Given the description of an element on the screen output the (x, y) to click on. 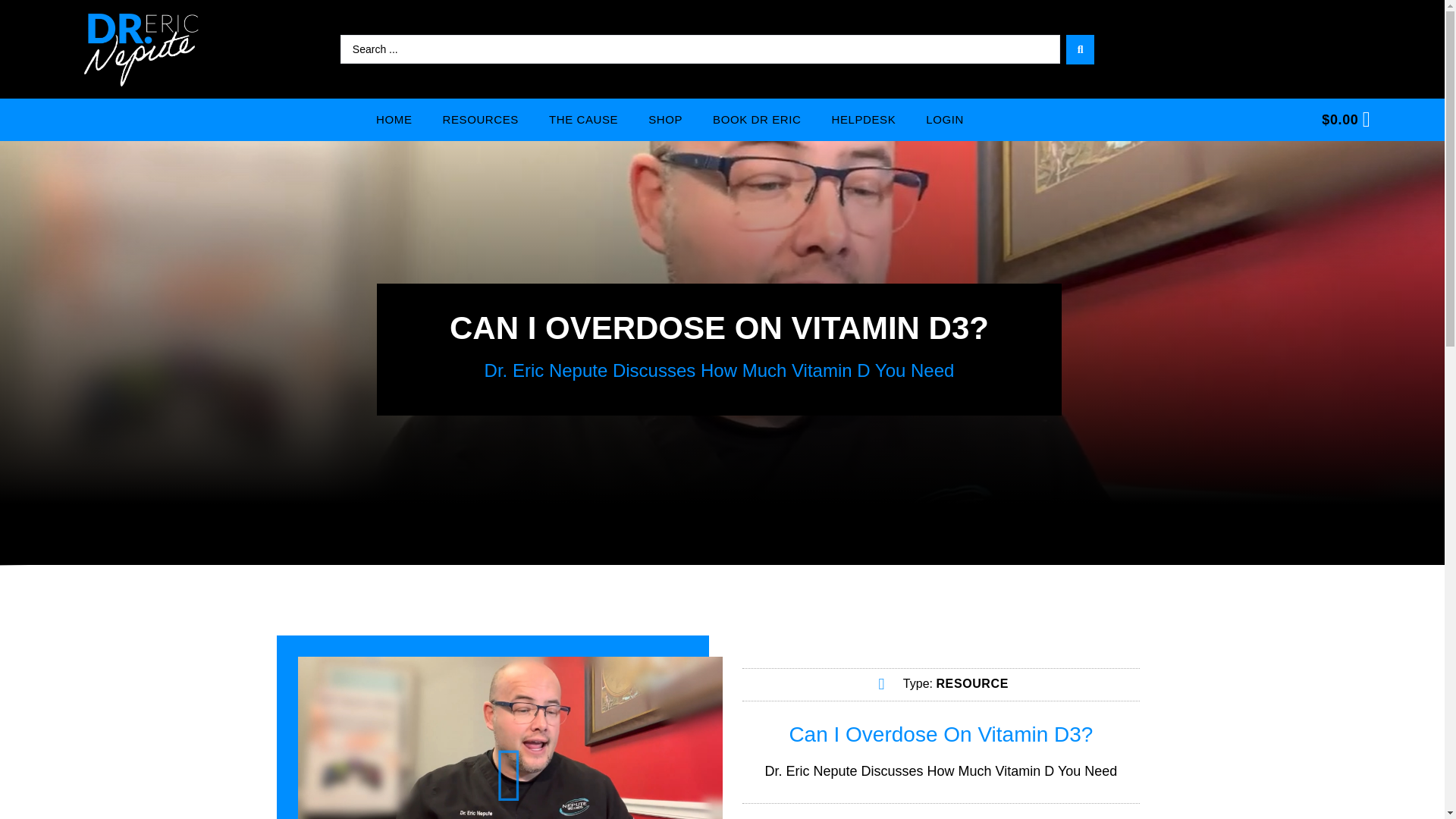
HOME (393, 119)
THE CAUSE (583, 119)
RESOURCE (971, 683)
RESOURCES (481, 119)
SHOP (665, 119)
LOGIN (944, 119)
BOOK DR ERIC (756, 119)
HELPDESK (863, 119)
